Given the description of an element on the screen output the (x, y) to click on. 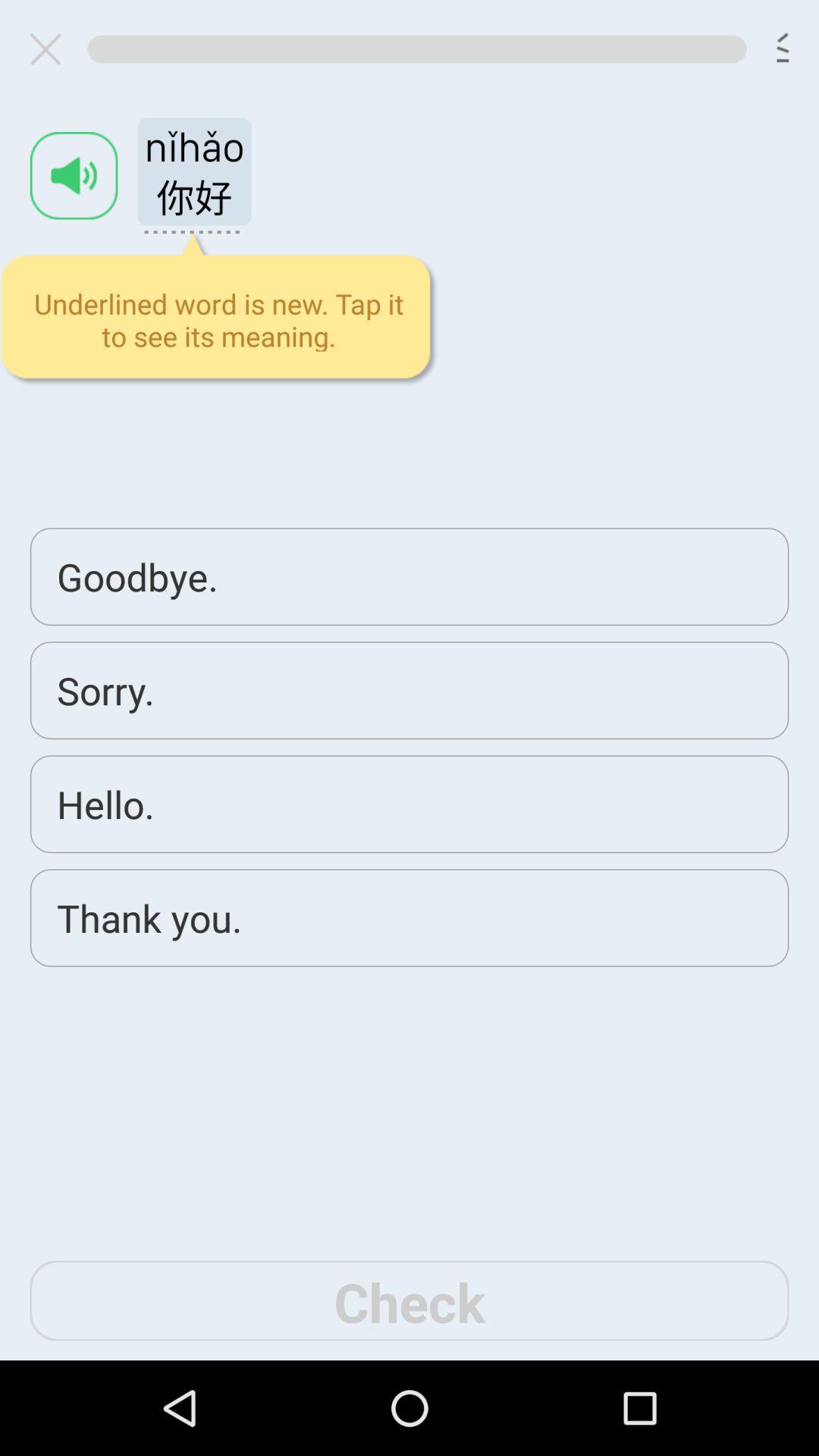
play audio (73, 175)
